Given the description of an element on the screen output the (x, y) to click on. 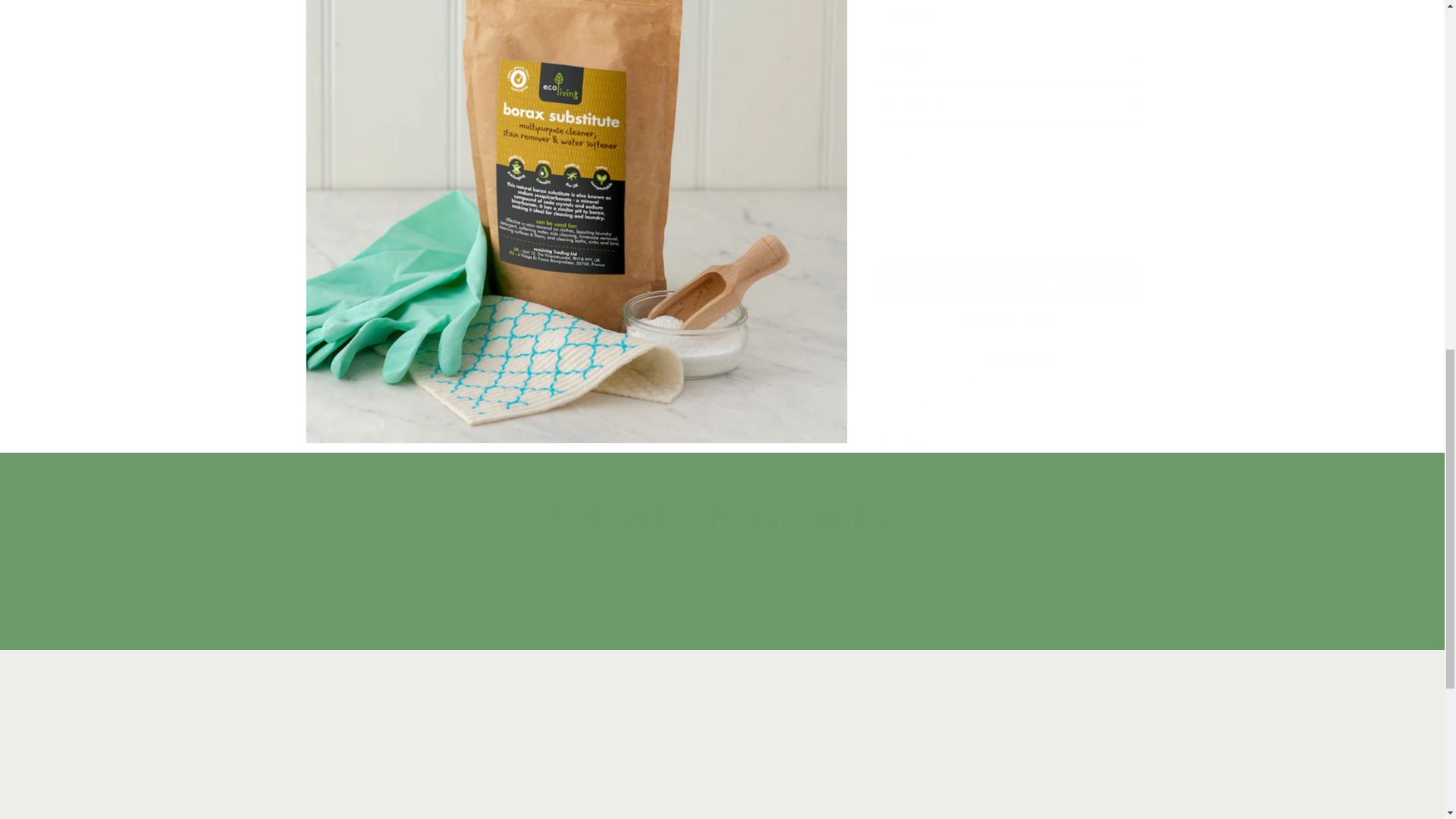
Subscribe to our emails (721, 517)
1 (1003, 763)
Email (931, 171)
